Given the description of an element on the screen output the (x, y) to click on. 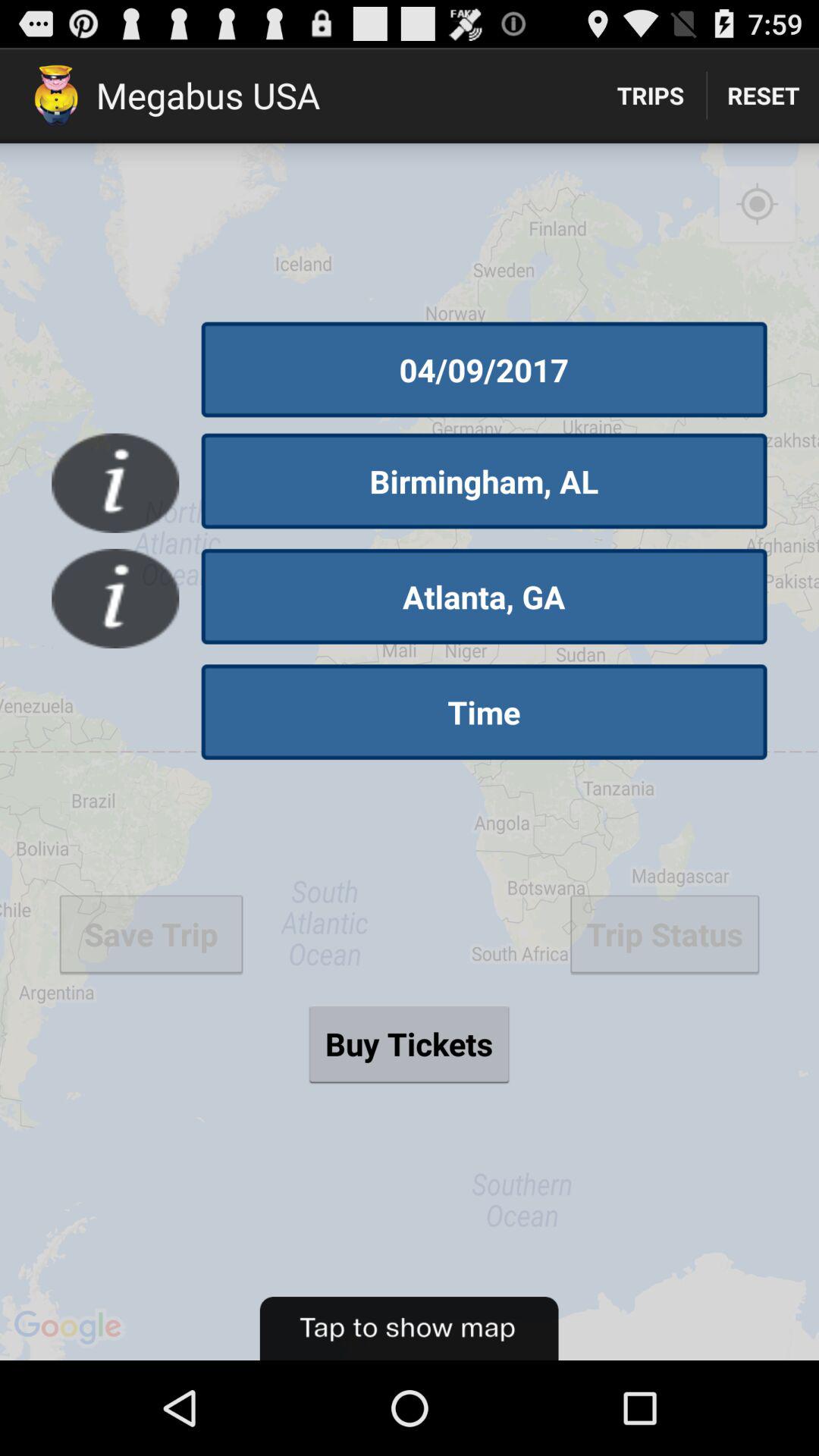
tap the time button (484, 711)
